Given the description of an element on the screen output the (x, y) to click on. 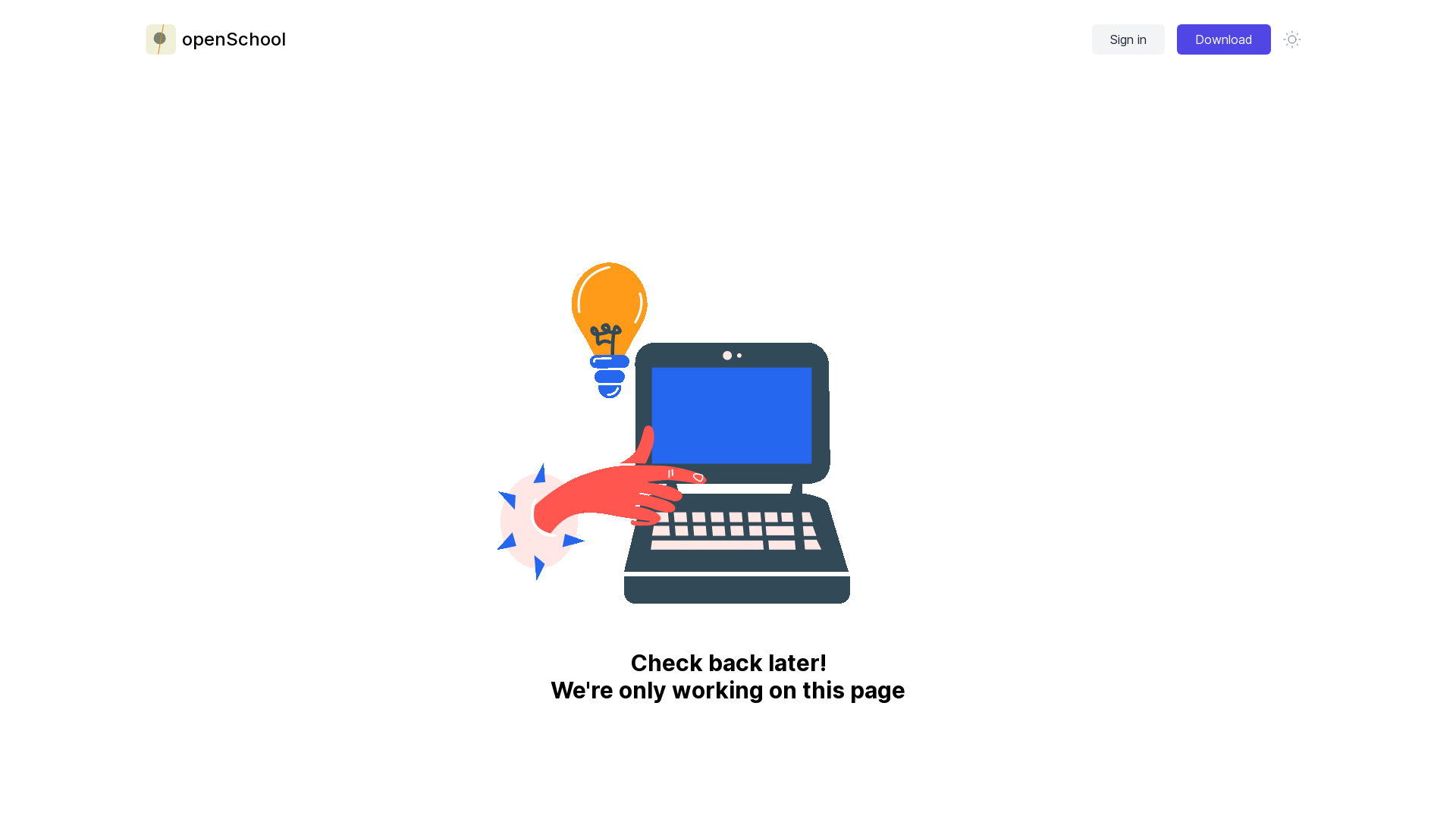
openSchool Element type: text (215, 39)
Dark Mode Element type: text (1292, 39)
Sign in Element type: text (1128, 39)
Download Element type: text (1223, 39)
